Given the description of an element on the screen output the (x, y) to click on. 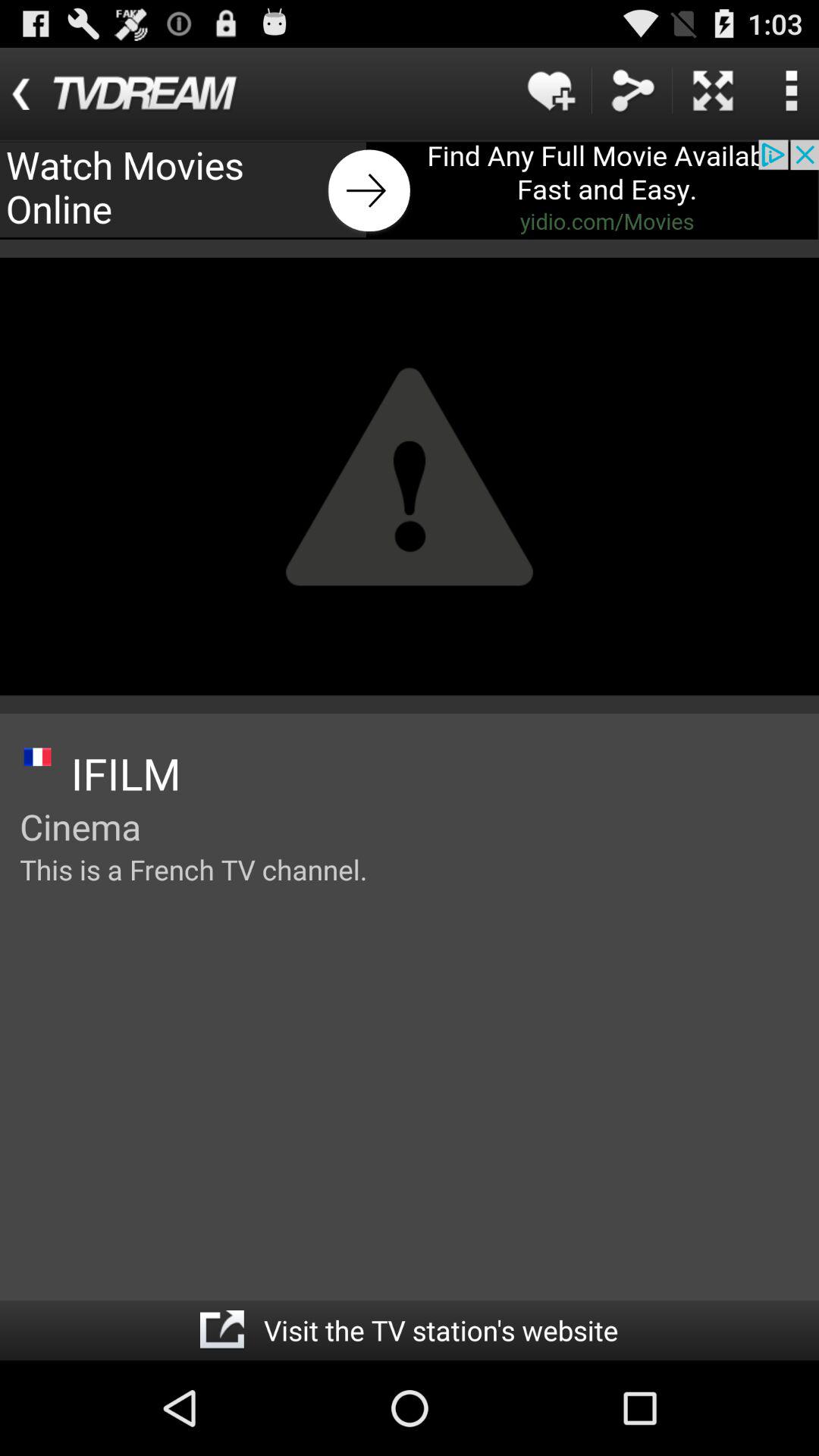
view the options (791, 90)
